Given the description of an element on the screen output the (x, y) to click on. 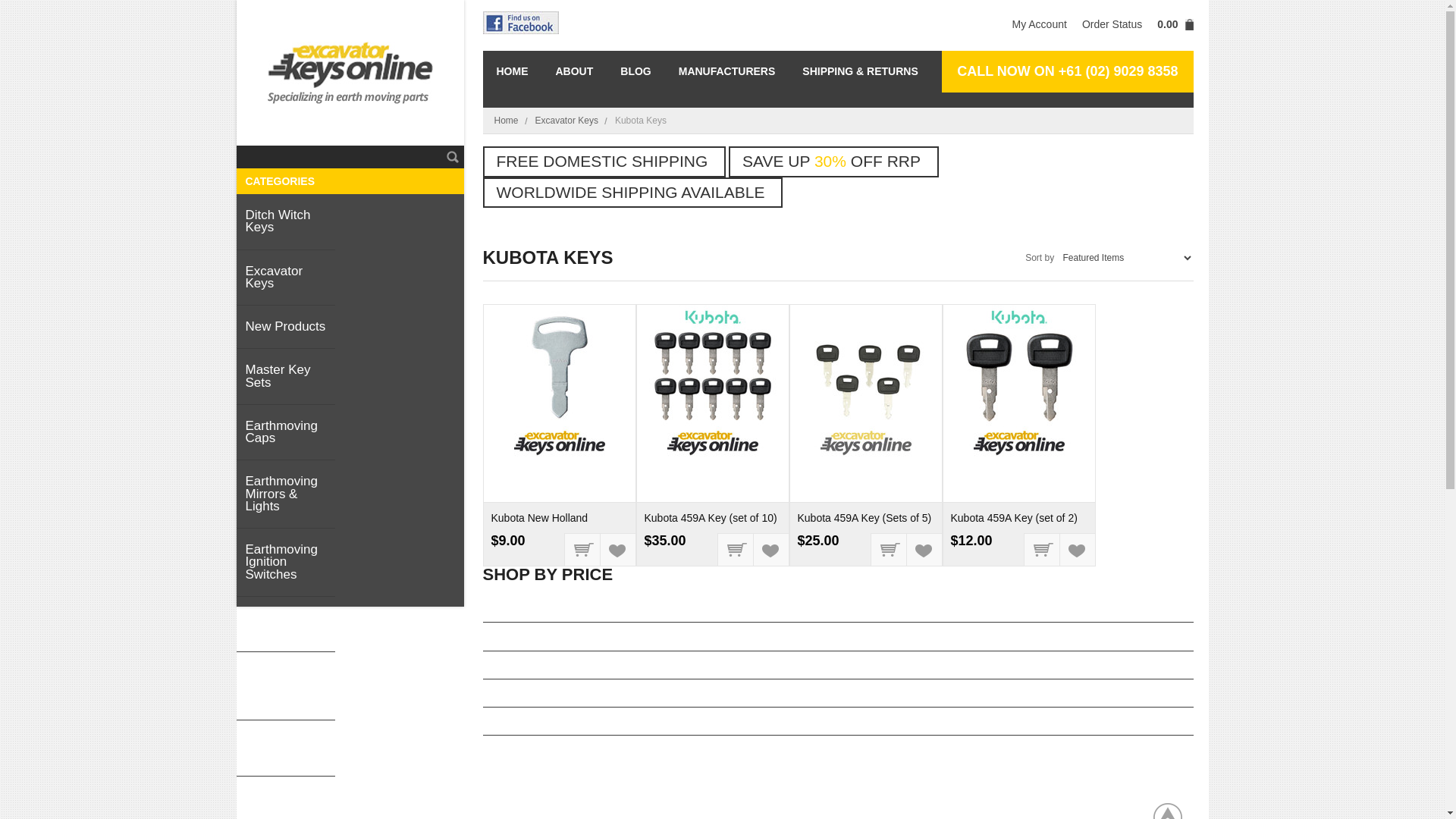
SHIPPING & RETURNS Element type: text (859, 71)
My Account Element type: text (1038, 25)
Excavator Wipers Element type: text (285, 624)
ADD TO CART Element type: text (735, 548)
$19.00 - $25.00 Element type: text (837, 664)
New Products Element type: text (285, 326)
Excavator Keys Element type: text (285, 278)
MANUFACTURERS Element type: text (727, 71)
Kubota New Holland Element type: text (539, 517)
Ditch Witch Keys Element type: text (285, 222)
ABOUT Element type: text (573, 71)
HOME Element type: text (511, 71)
$30.00 - $35.00 Element type: text (837, 721)
Earthmoving Caps Element type: text (285, 432)
$25.00 - $30.00 Element type: text (837, 693)
ADD TO CART Element type: text (582, 548)
$14.00 - $19.00 Element type: text (837, 636)
Master Key Sets Element type: text (285, 376)
SEARCH Element type: text (452, 156)
Earthmoving Ignition Switches Element type: text (285, 562)
Earthmoving Filters Element type: text (285, 748)
Home Element type: text (510, 120)
ADD TO CART Element type: text (1041, 548)
BLOG Element type: text (635, 71)
Order Status Element type: text (1111, 25)
Sumitomo Ignition Switches Element type: text (285, 686)
Earthmoving Mirrors & Lights Element type: text (285, 494)
Kubota 459A Key (Sets of 5) Element type: text (864, 517)
Kubota 459A Key (set of 2) Element type: text (1013, 517)
ADD TO CART Element type: text (888, 548)
0.00 Element type: text (1170, 25)
Kubota 459A Key (set of 10) Element type: text (710, 517)
Excavator Keys Element type: text (571, 120)
$0.00 - $14.00 Element type: text (837, 608)
